Given the description of an element on the screen output the (x, y) to click on. 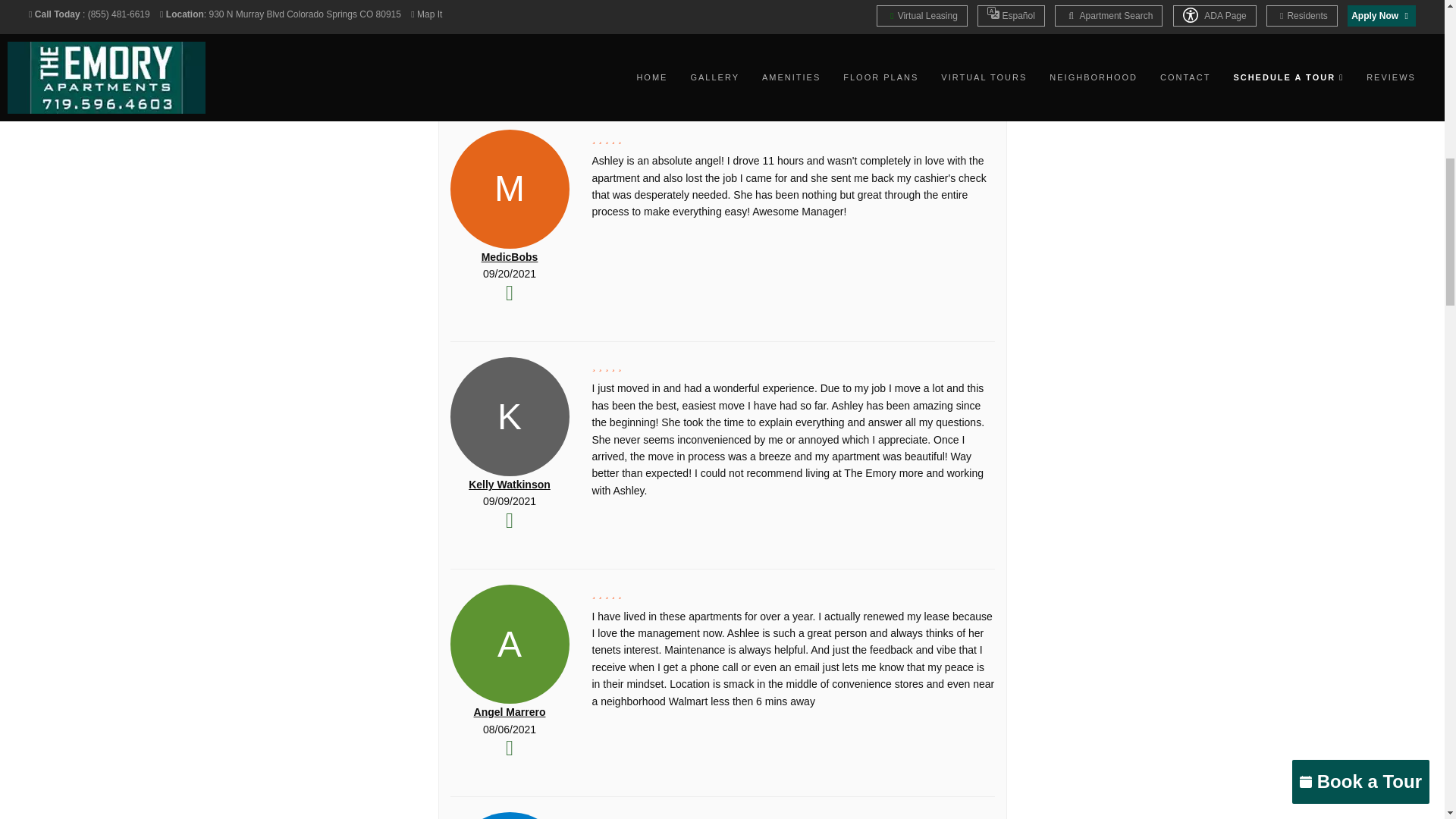
MedicBobs (509, 256)
Deanna Jackson (509, 29)
Angel Marrero (510, 711)
Kelly Watkinson (509, 484)
